Given the description of an element on the screen output the (x, y) to click on. 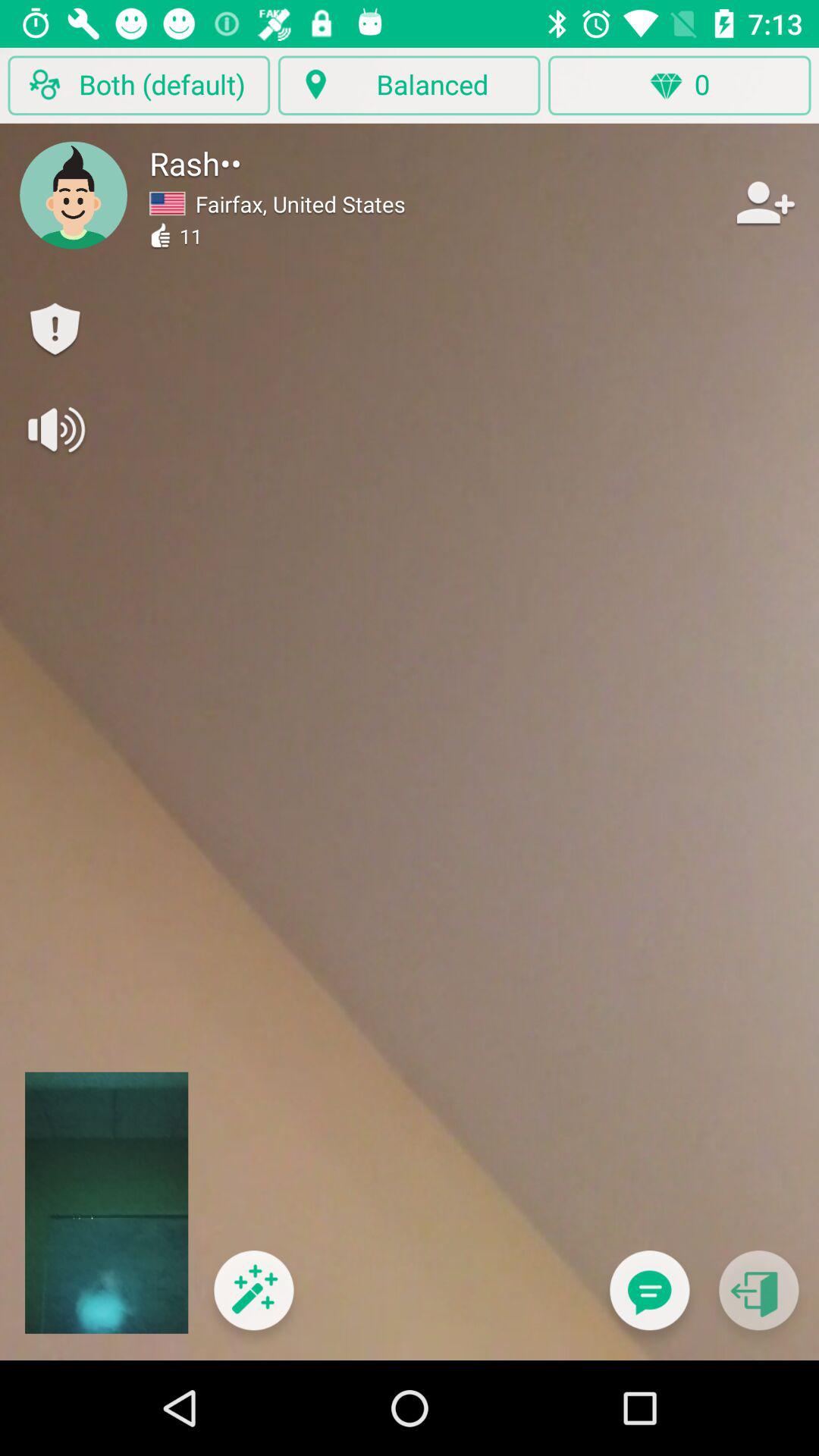
open icon below the 0 icon (649, 1300)
